Given the description of an element on the screen output the (x, y) to click on. 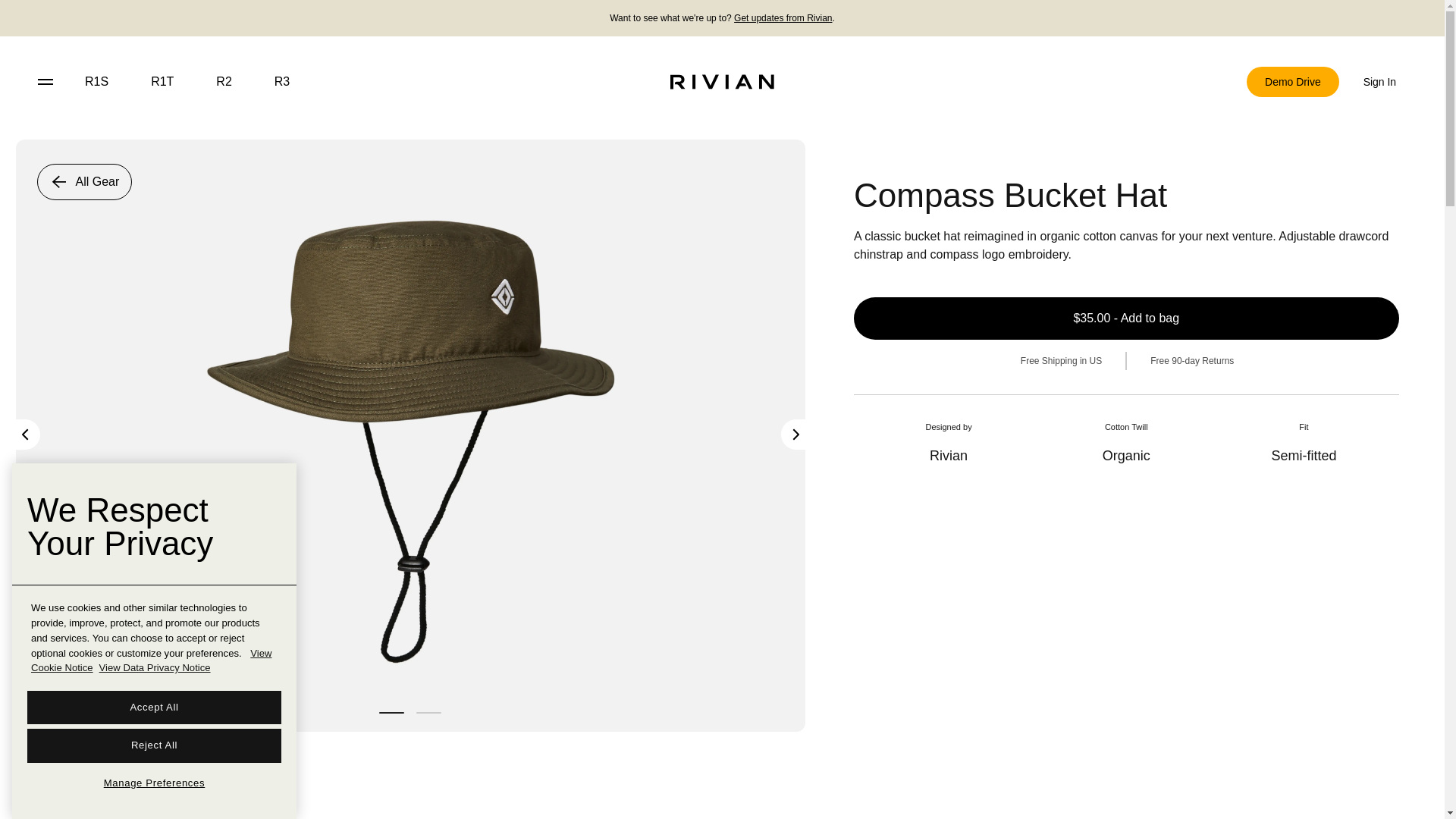
R2 (223, 81)
Demo Drive (1292, 81)
Sign In (1379, 81)
Get updates from Rivian (782, 18)
R1S (96, 81)
R1T (162, 81)
R3 (281, 81)
All Gear (84, 181)
